Given the description of an element on the screen output the (x, y) to click on. 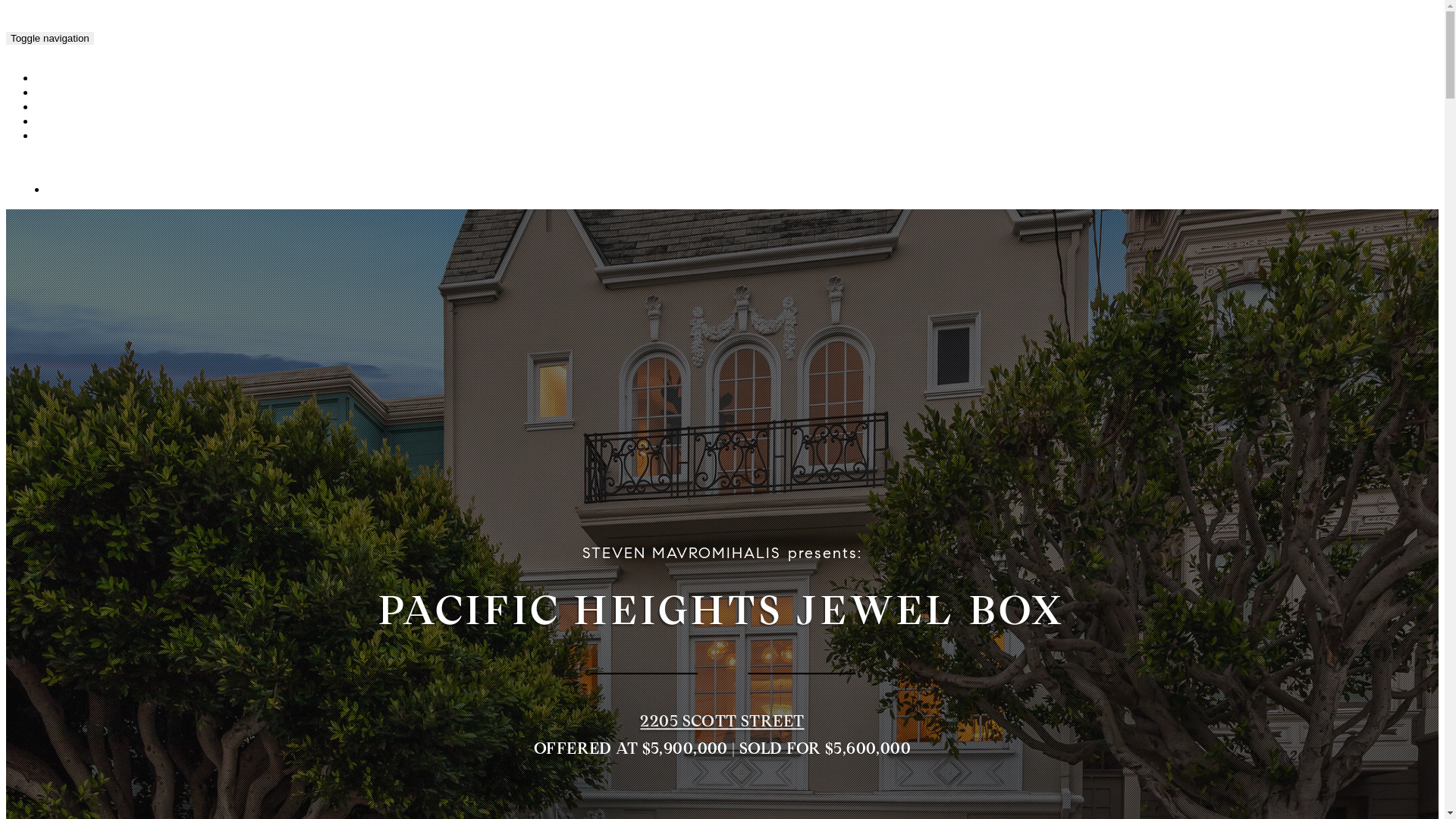
Toggle navigation Element type: text (50, 37)
GALLERY Element type: text (68, 78)
VIDEO TOUR Element type: text (75, 93)
LOCATION Element type: text (71, 122)
SCHEDULE & CONTACT Element type: text (101, 136)
2205 Scott Street Element type: text (167, 36)
2205 SCOTT STREET Element type: text (721, 721)
FEATURES Element type: text (70, 107)
